Given the description of an element on the screen output the (x, y) to click on. 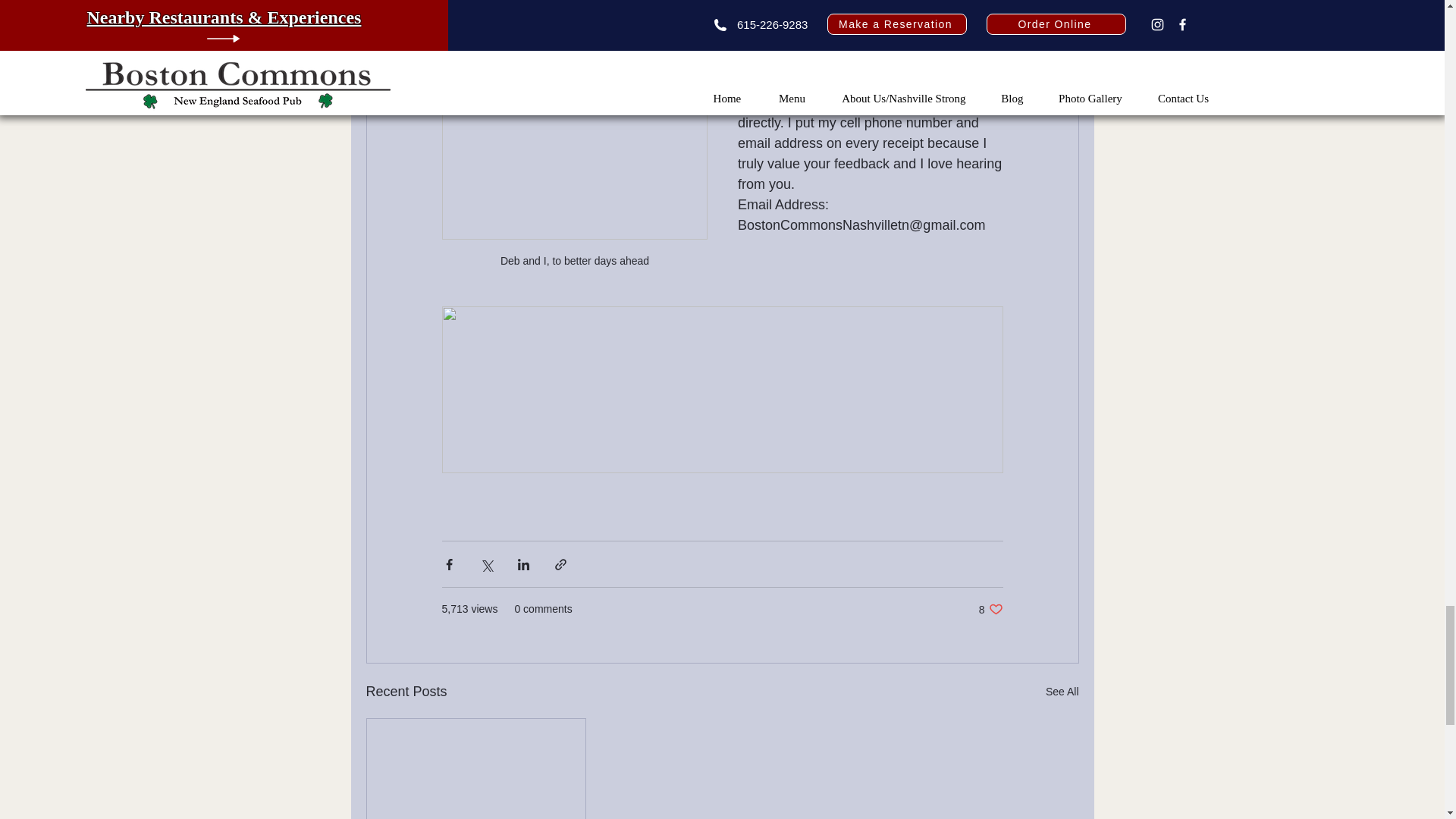
See All (990, 608)
